Given the description of an element on the screen output the (x, y) to click on. 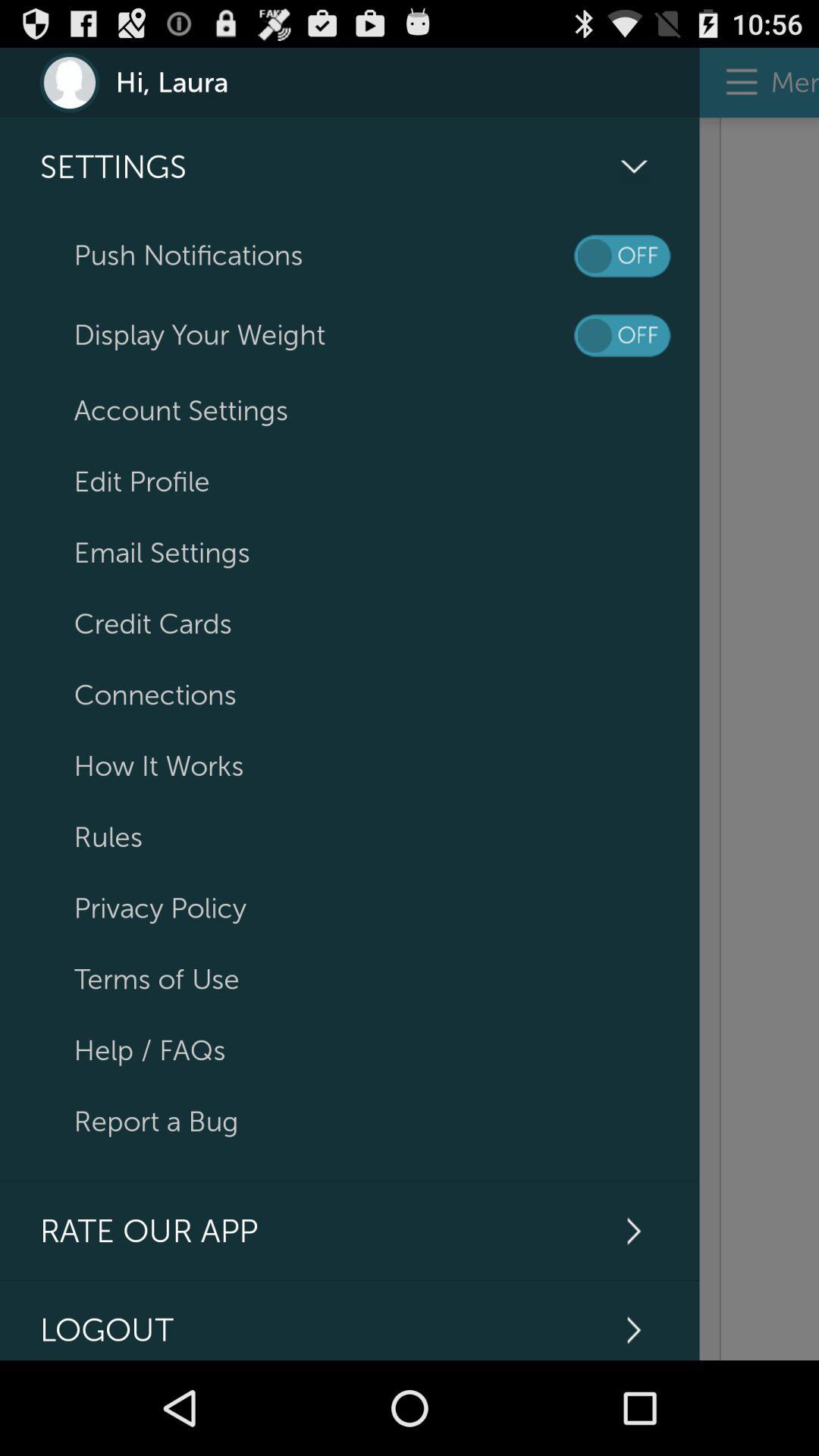
push up notifications switch on/off button (622, 255)
